Given the description of an element on the screen output the (x, y) to click on. 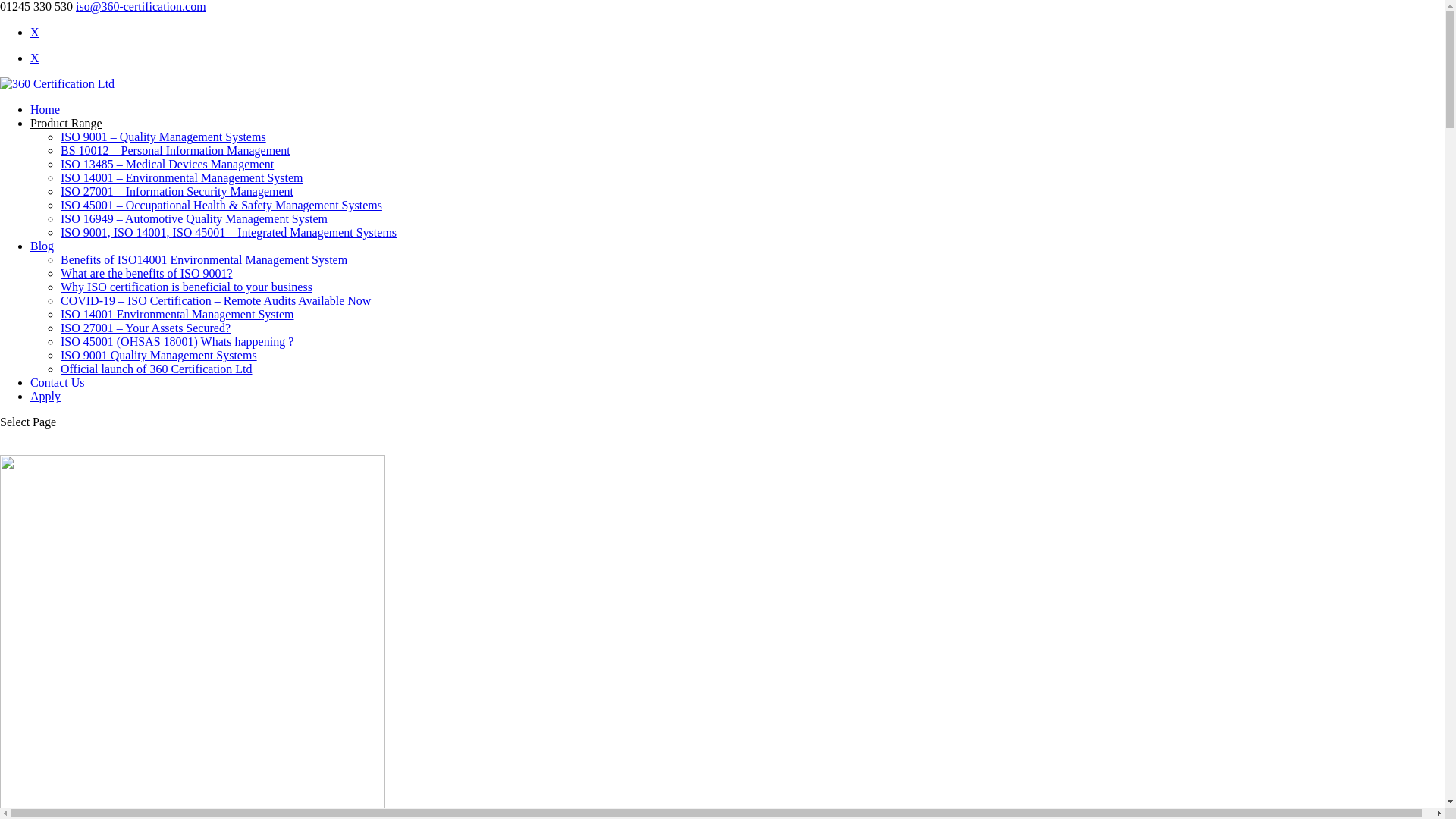
ISO 14001 Environmental Management System Element type: text (177, 313)
Apply Element type: text (45, 395)
Benefits of ISO14001 Environmental Management System Element type: text (203, 259)
Product Range Element type: text (66, 122)
Official launch of 360 Certification Ltd Element type: text (156, 368)
ISO 45001 (OHSAS 18001) Whats happening ? Element type: text (176, 341)
X Element type: text (34, 57)
X Element type: text (34, 31)
Why ISO certification is beneficial to your business Element type: text (186, 286)
Blog Element type: text (41, 245)
ISO 9001 Quality Management Systems Element type: text (158, 354)
iso@360-certification.com Element type: text (140, 6)
Contact Us Element type: text (57, 382)
What are the benefits of ISO 9001? Element type: text (146, 272)
Home Element type: text (44, 109)
